Given the description of an element on the screen output the (x, y) to click on. 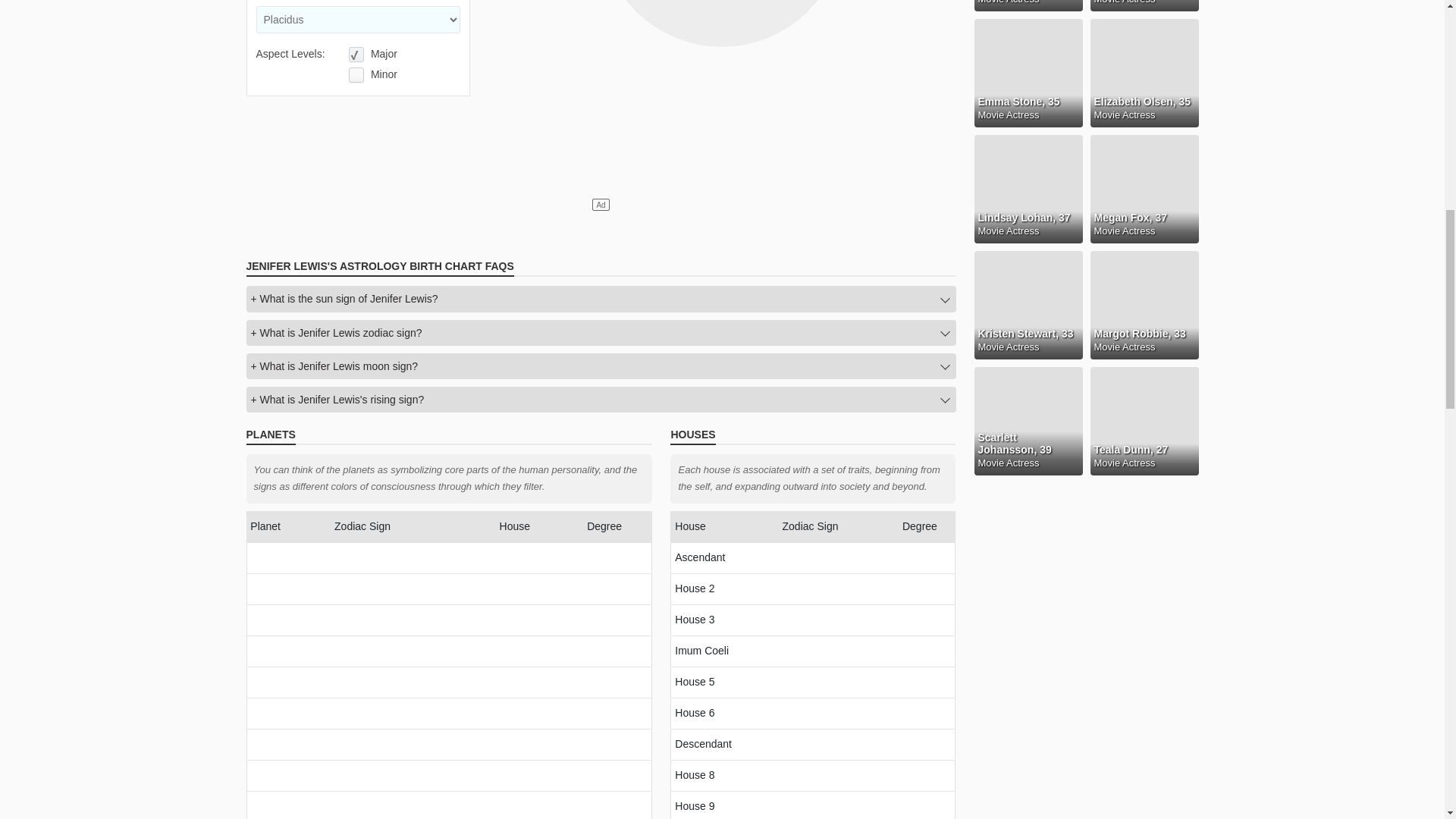
on (356, 54)
on (356, 74)
